Given the description of an element on the screen output the (x, y) to click on. 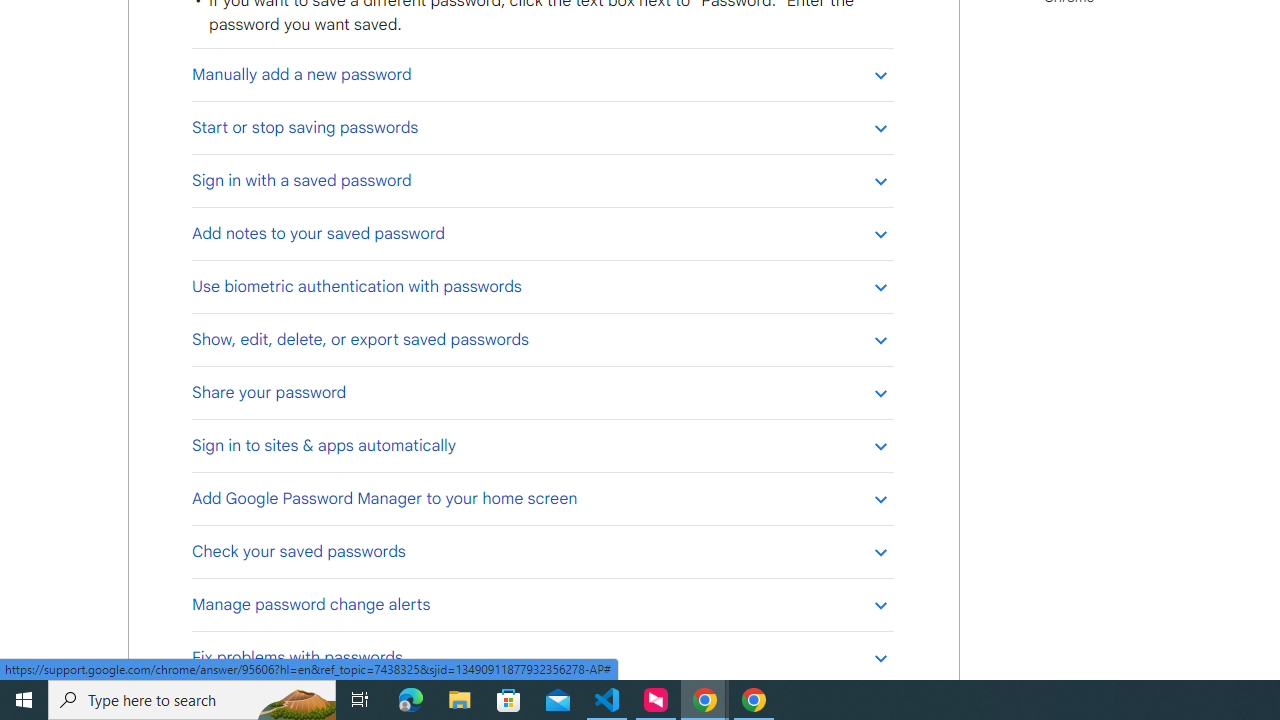
Add notes to your saved password (542, 233)
Share your password (542, 392)
Add Google Password Manager to your home screen (542, 498)
Show, edit, delete, or export saved passwords (542, 339)
Manually add a new password (542, 74)
Sign in with a saved password (542, 180)
Start or stop saving passwords (542, 127)
Check your saved passwords (542, 551)
Use biometric authentication with passwords (542, 286)
Manage password change alerts (542, 604)
Sign in to sites & apps automatically (542, 445)
